Given the description of an element on the screen output the (x, y) to click on. 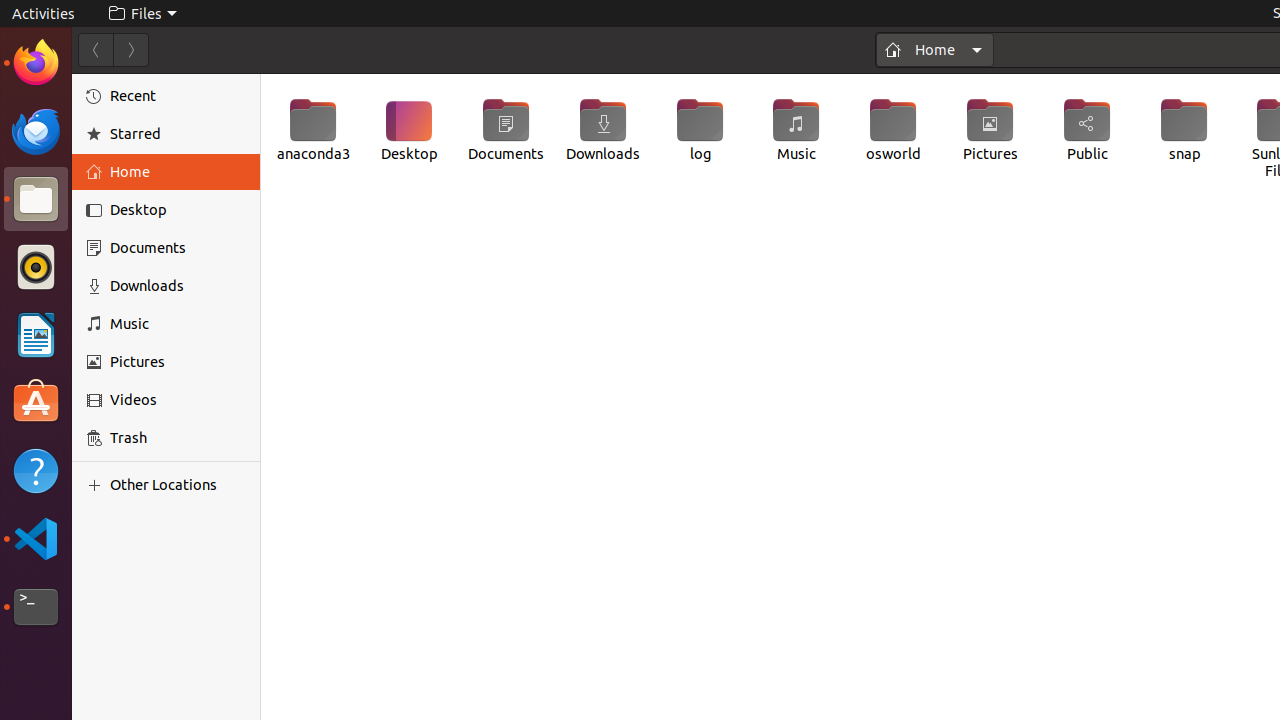
log Element type: canvas (699, 130)
Add Element type: icon (98, 485)
Public Element type: canvas (1087, 130)
Activities Element type: label (43, 13)
Pictures Element type: label (178, 362)
